Given the description of an element on the screen output the (x, y) to click on. 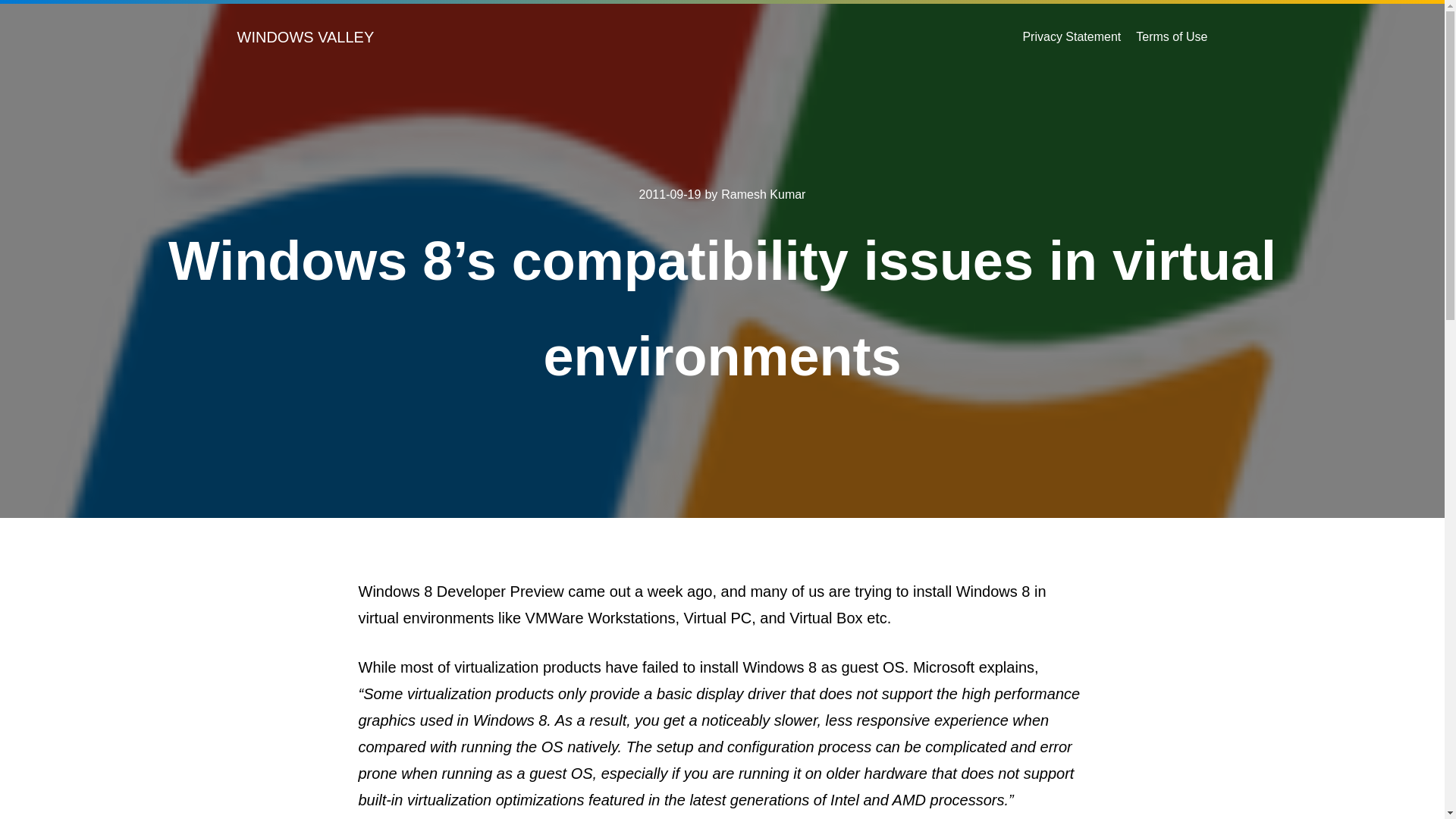
Privacy Statement (1071, 36)
WINDOWS VALLEY (304, 36)
Terms of Use (1171, 36)
